Given the description of an element on the screen output the (x, y) to click on. 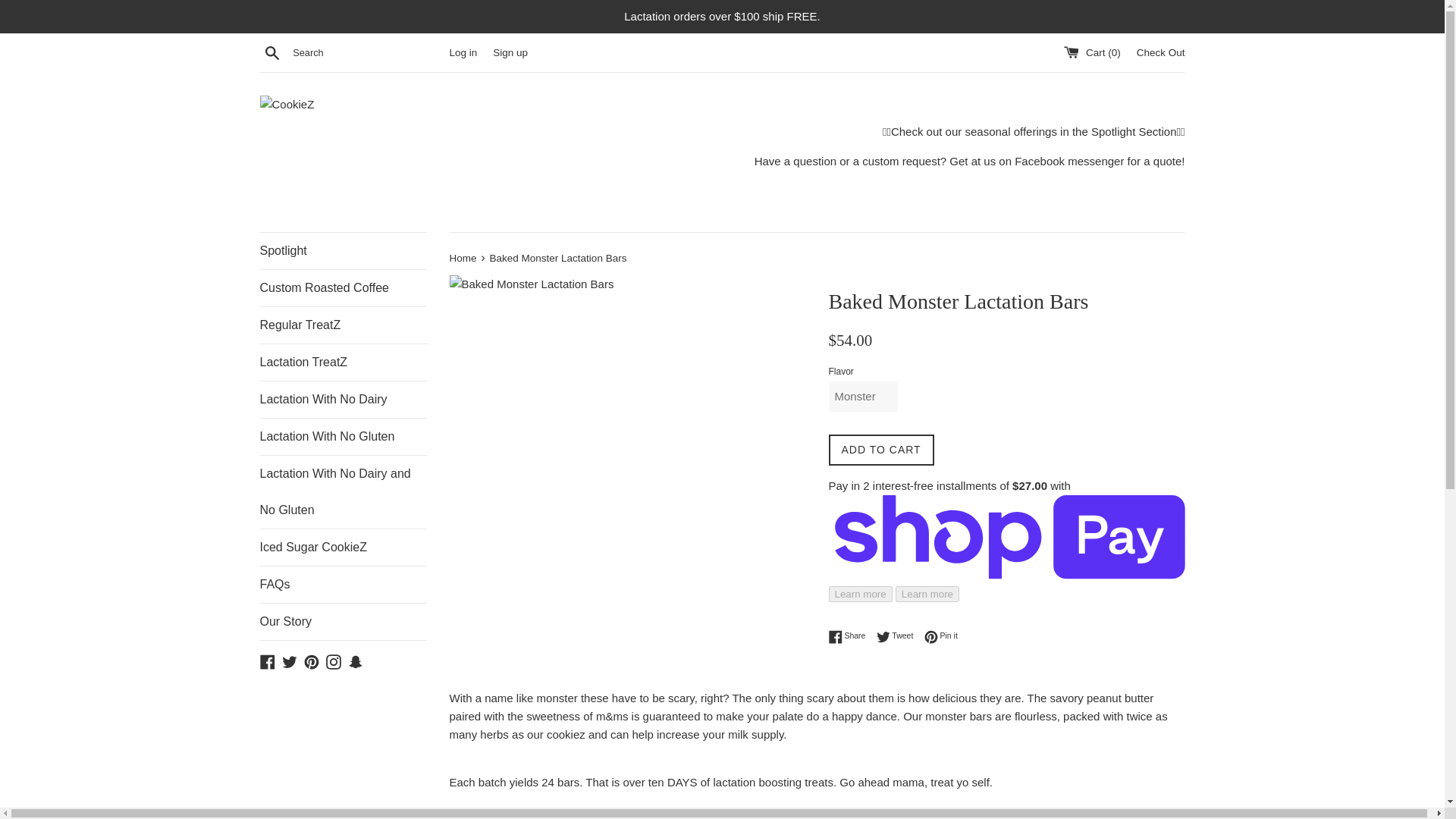
Lactation TreatZ (342, 361)
CookieZ on Instagram (333, 660)
Lactation With No Dairy (342, 399)
Spotlight (342, 250)
Check Out (1161, 52)
CookieZ on Facebook (267, 660)
Pin on Pinterest (898, 635)
CookieZ on Pinterest (941, 635)
